Given the description of an element on the screen output the (x, y) to click on. 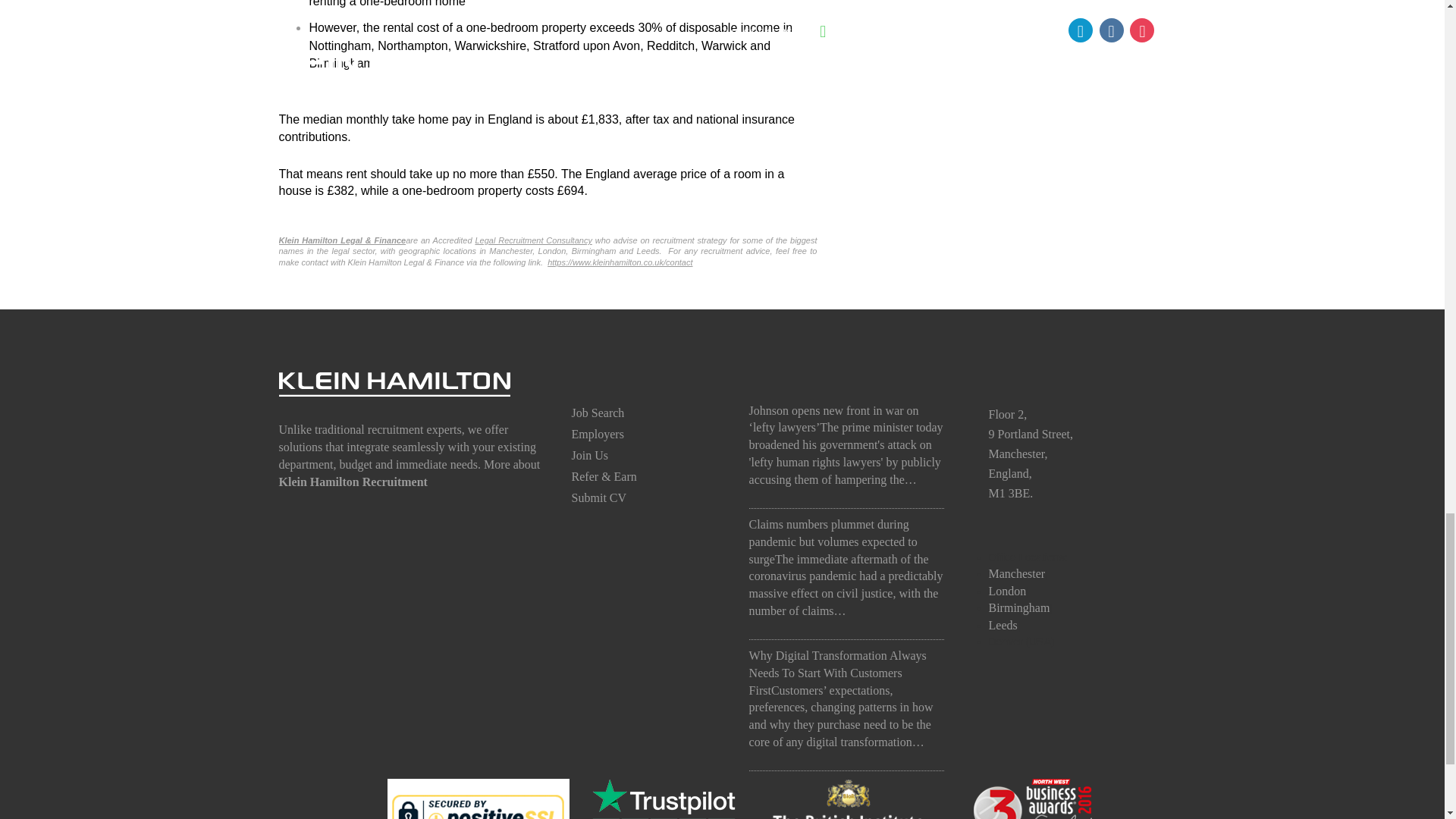
London (1007, 590)
Klein Hamilton Recruitment (353, 481)
Manchester (1016, 573)
Submit CV (599, 497)
Legal Recruitment Consultancy (532, 239)
Employers (598, 433)
Join Us (590, 454)
Birmingham (1018, 607)
Legal Recruitment Consultancy (532, 239)
Contact Legal Recruitment Agency  (620, 261)
